Given the description of an element on the screen output the (x, y) to click on. 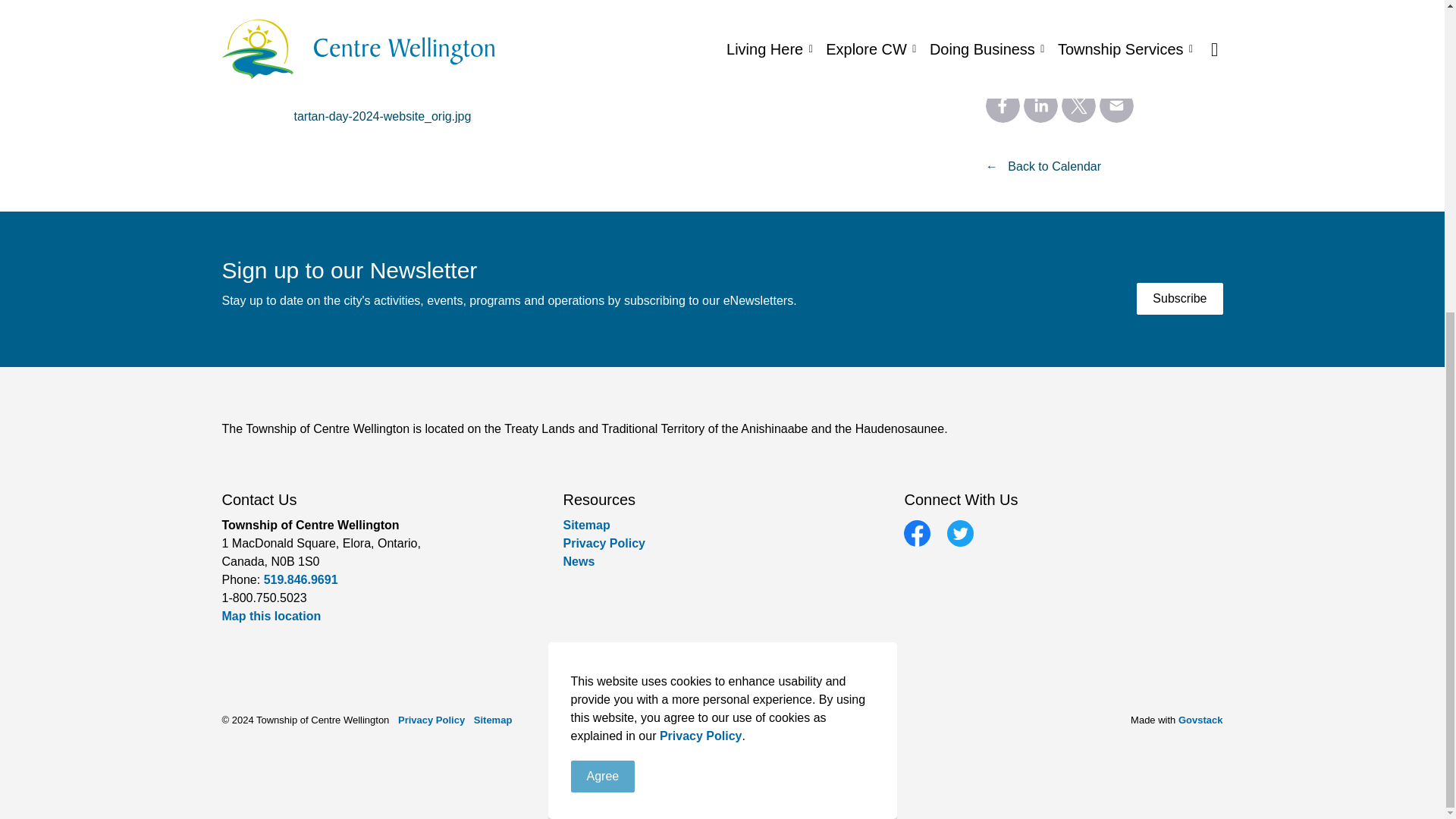
Link to map this location (270, 615)
Sitemap (586, 524)
Privacy Policy (603, 543)
News (578, 561)
Privacy Policy (700, 237)
